Given the description of an element on the screen output the (x, y) to click on. 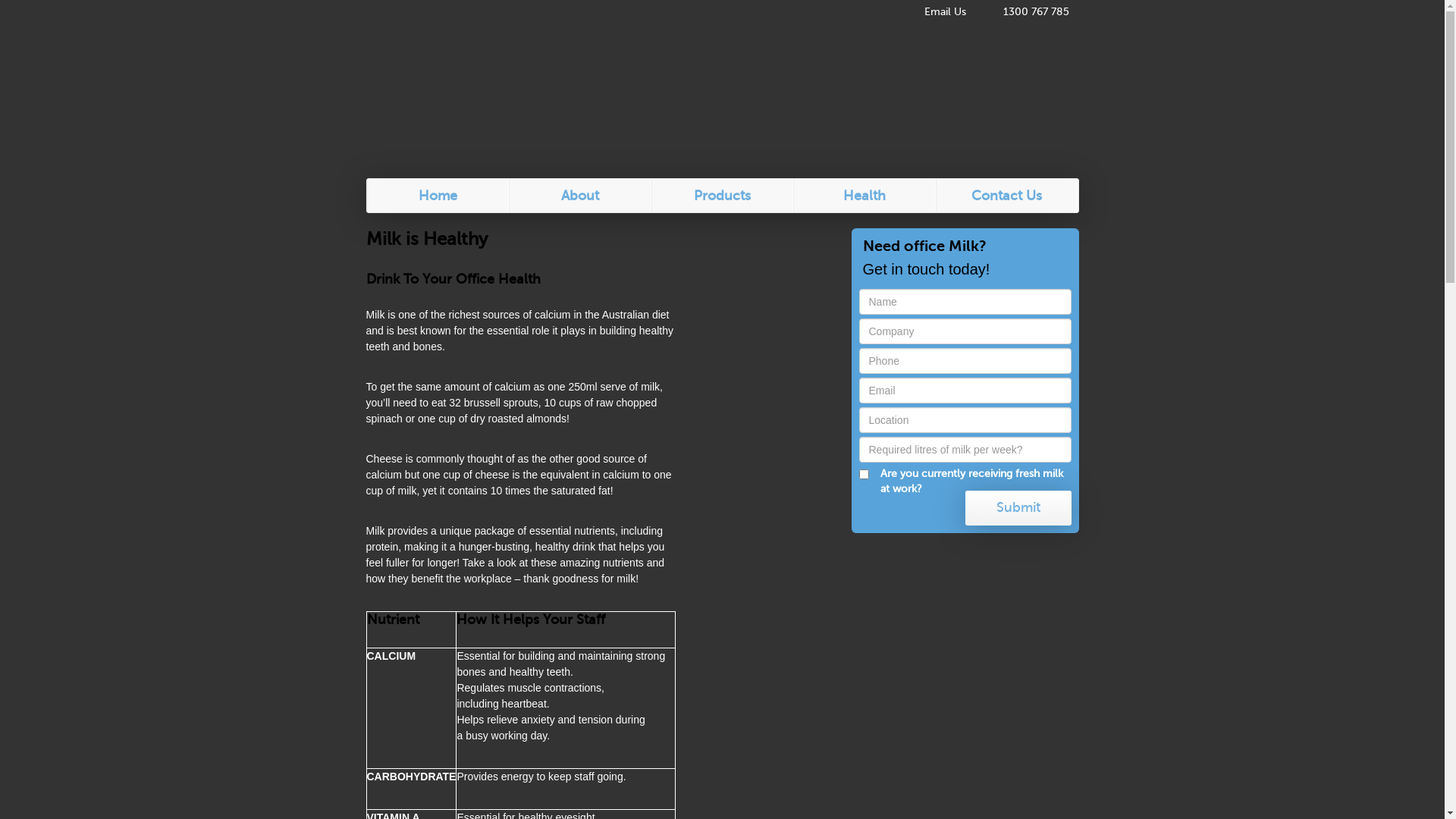
Submit Element type: text (1017, 507)
About Element type: text (579, 195)
Email Us Element type: text (935, 11)
1300 767 785 Element type: text (1026, 11)
Health Element type: text (864, 195)
Products Element type: text (722, 195)
Home Element type: text (438, 195)
Contact Us Element type: text (1006, 195)
